Given the description of an element on the screen output the (x, y) to click on. 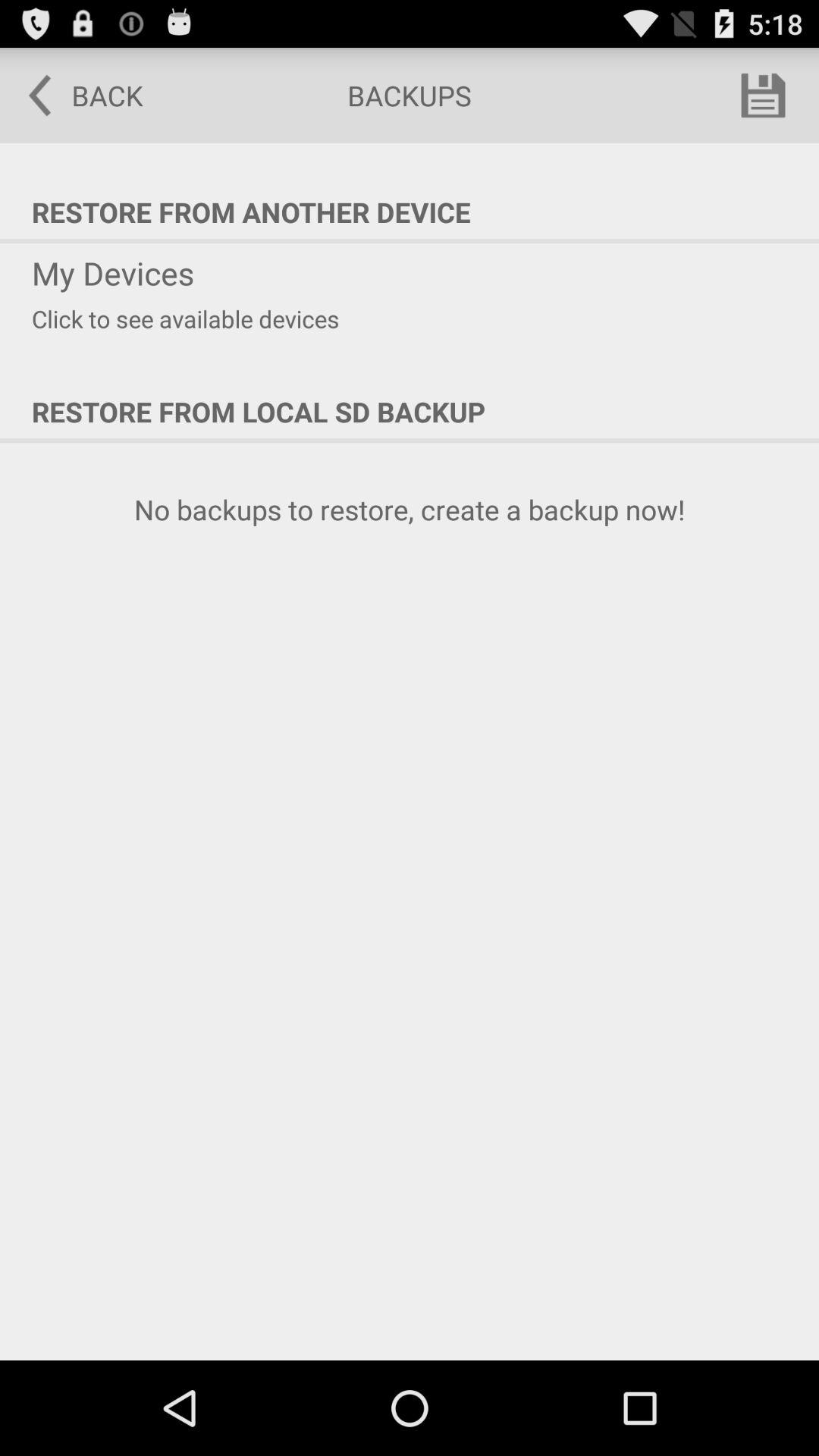
save backup (763, 95)
